Given the description of an element on the screen output the (x, y) to click on. 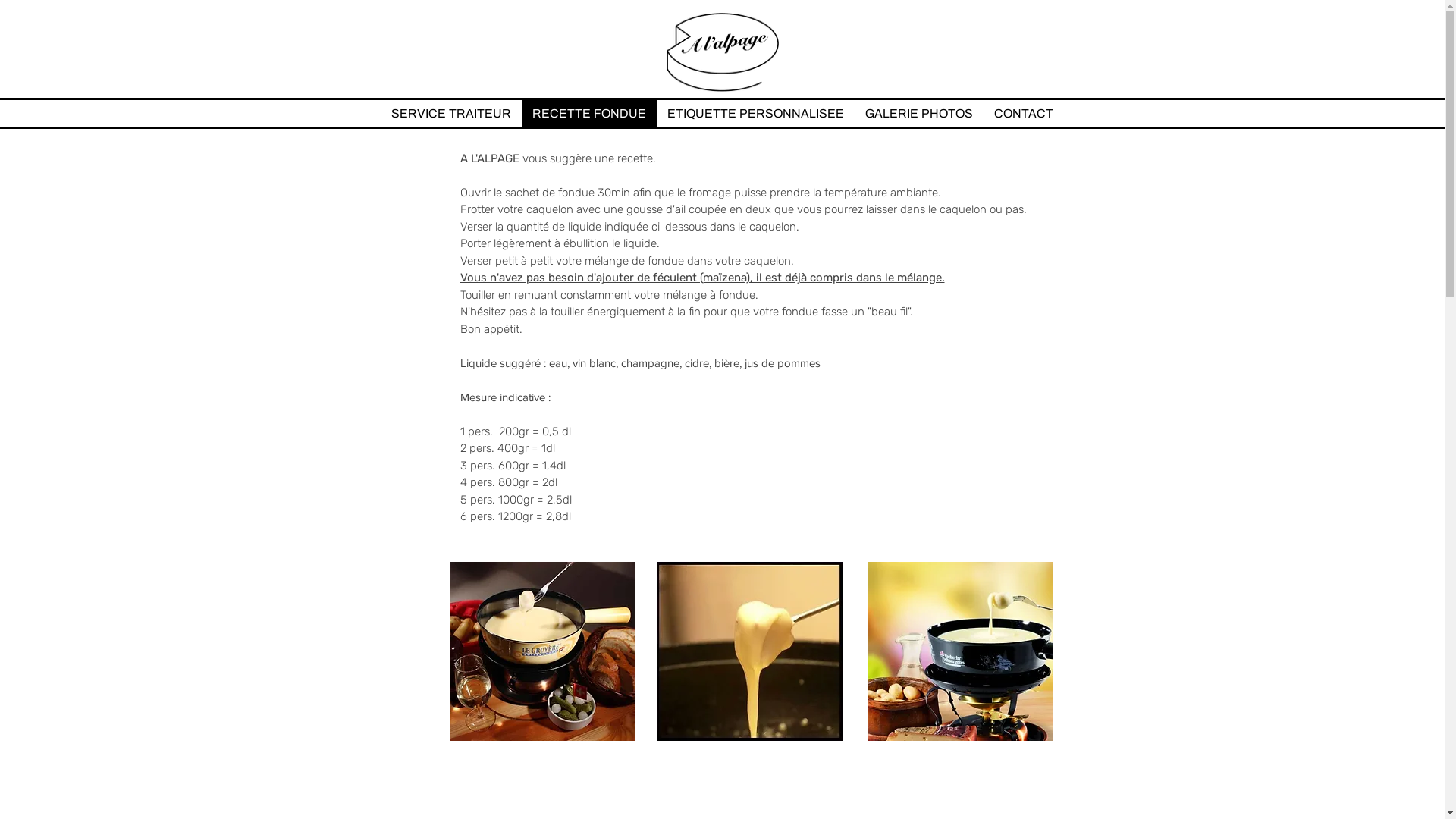
ETIQUETTE PERSONNALISEE Element type: text (755, 113)
GALERIE PHOTOS Element type: text (918, 113)
SERVICE TRAITEUR Element type: text (450, 113)
RECETTE FONDUE Element type: text (588, 113)
CONTACT Element type: text (1023, 113)
